Given the description of an element on the screen output the (x, y) to click on. 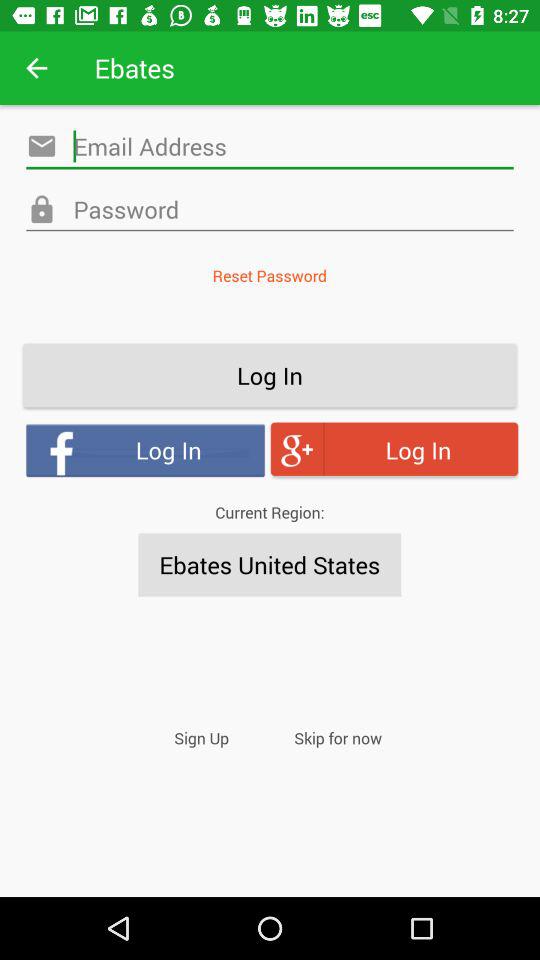
click sign up icon (201, 737)
